Given the description of an element on the screen output the (x, y) to click on. 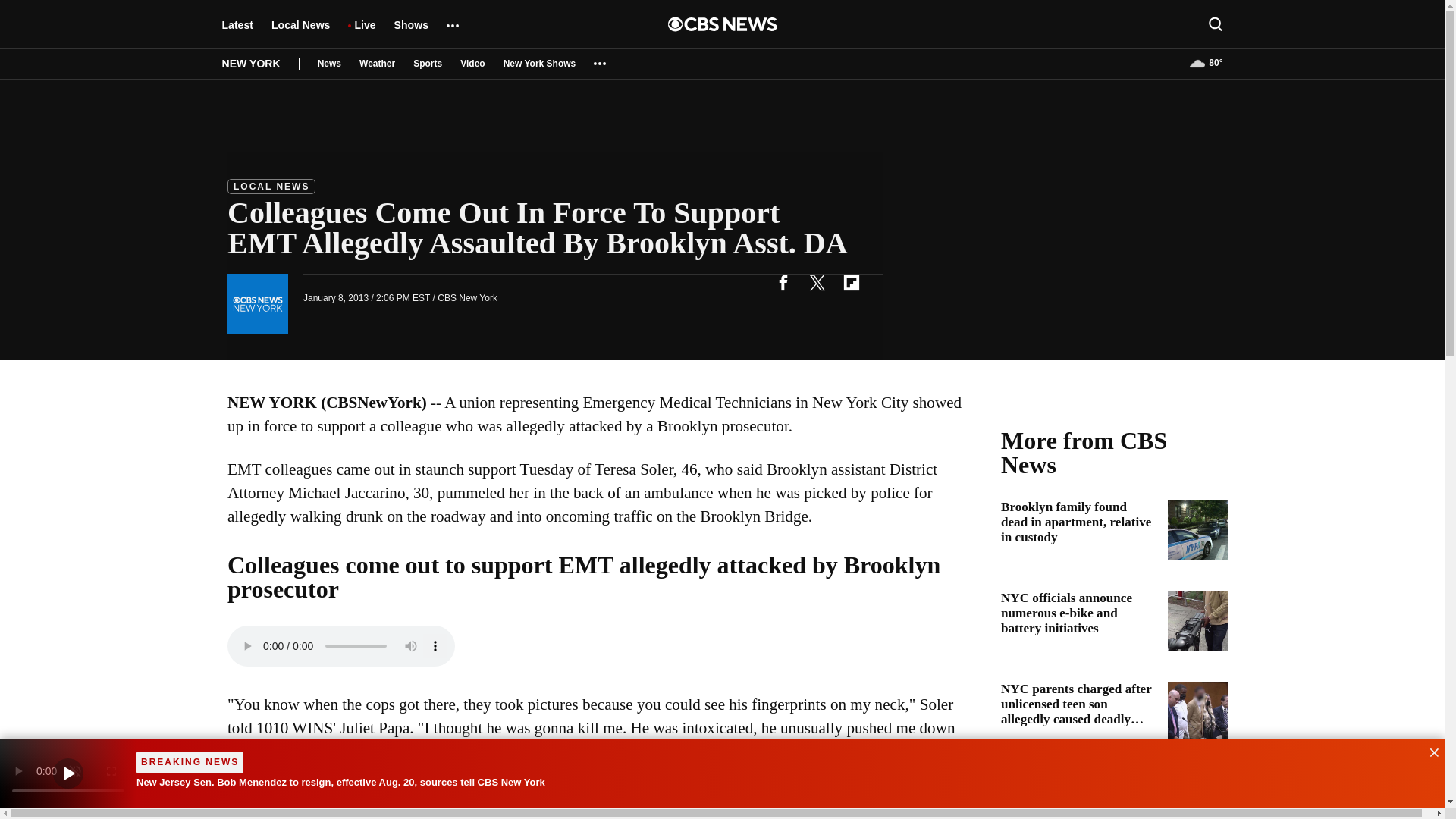
Local News (300, 31)
flipboard (850, 282)
Watch CBS News (68, 773)
Latest (236, 31)
Click to hide breaking news banner (1429, 750)
facebook (782, 282)
twitter (816, 282)
